Given the description of an element on the screen output the (x, y) to click on. 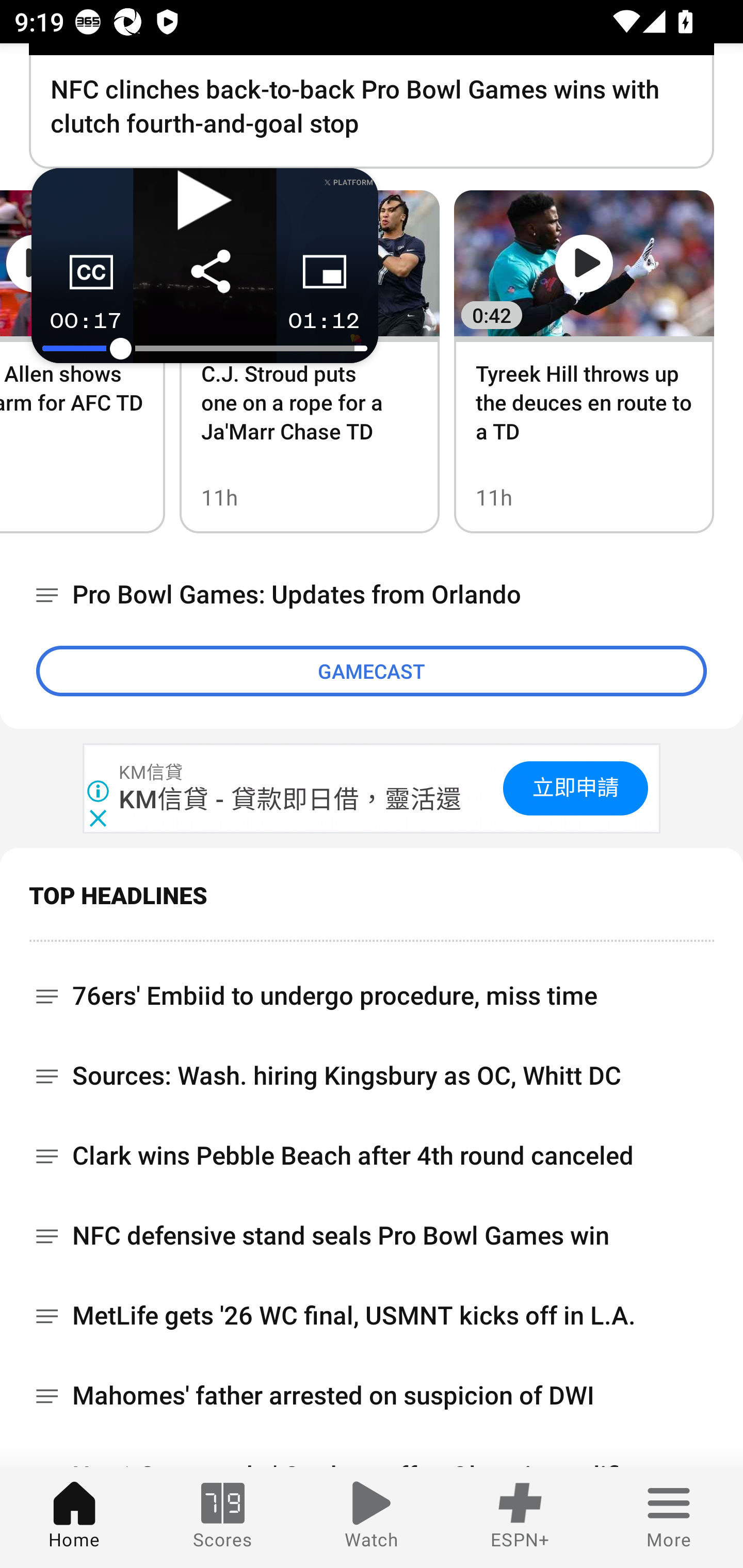
 Pro Bowl Games: Updates from Orlando (371, 595)
GAMECAST (371, 671)
KM信貸 (151, 773)
立即申請 (575, 788)
KM信貸 - 貸款即日借，靈活還 (290, 798)
 76ers' Embiid to undergo procedure, miss time (371, 989)
 Sources: Wash. hiring Kingsbury as OC, Whitt DC (371, 1076)
 Clark wins Pebble Beach after 4th round canceled (371, 1156)
 NFC defensive stand seals Pro Bowl Games win (371, 1236)
 Mahomes' father arrested on suspicion of DWI (371, 1396)
Scores (222, 1517)
Watch (371, 1517)
ESPN+ (519, 1517)
More (668, 1517)
